Given the description of an element on the screen output the (x, y) to click on. 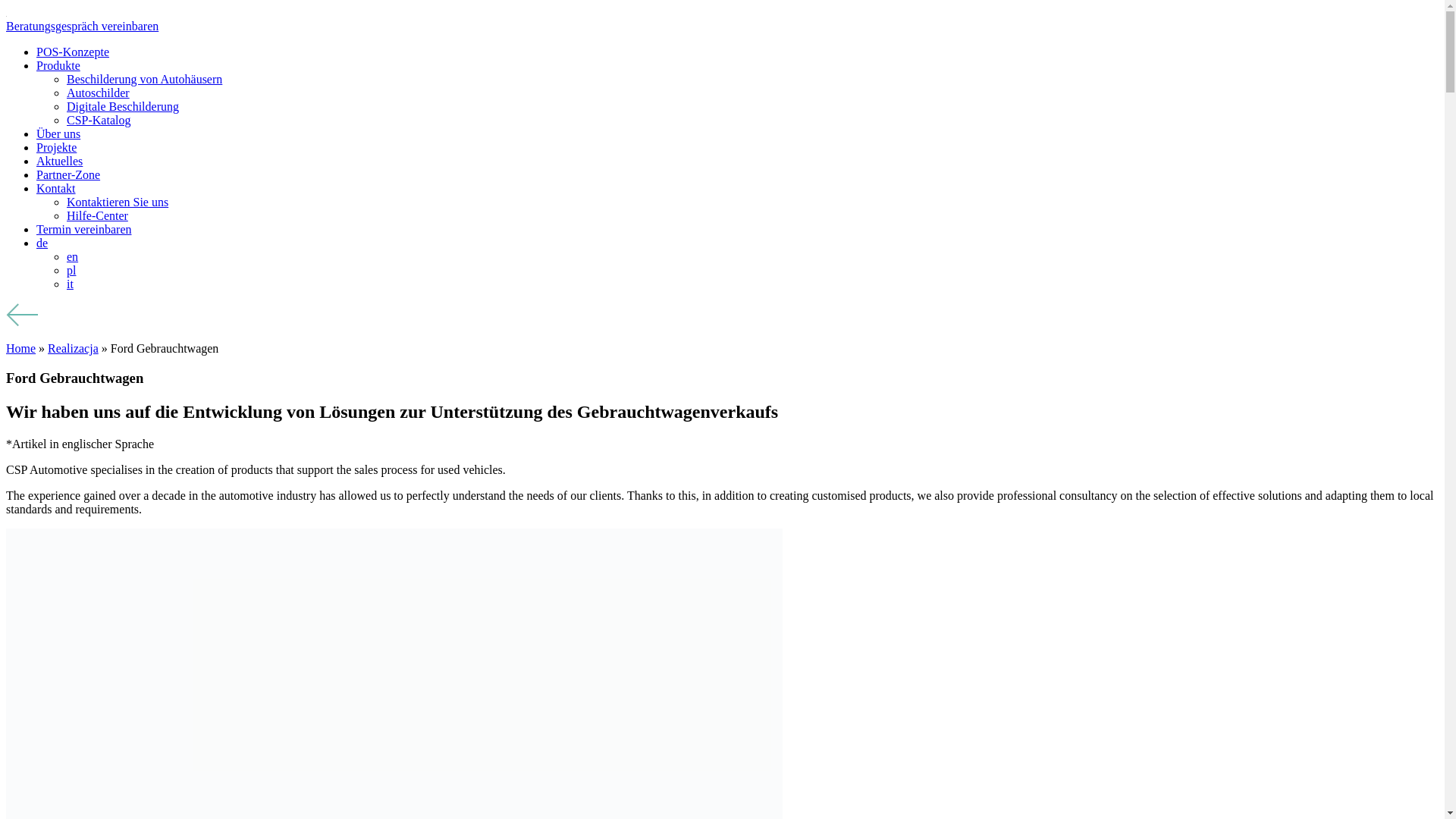
Kontakt (55, 187)
Digitale Beschilderung (122, 106)
Aktuelles (59, 160)
Projekte (56, 146)
Home (19, 348)
Termin vereinbaren (83, 228)
Autoschilder (97, 92)
Partner-Zone (68, 174)
Realizacja (73, 348)
Produkte (58, 65)
